Given the description of an element on the screen output the (x, y) to click on. 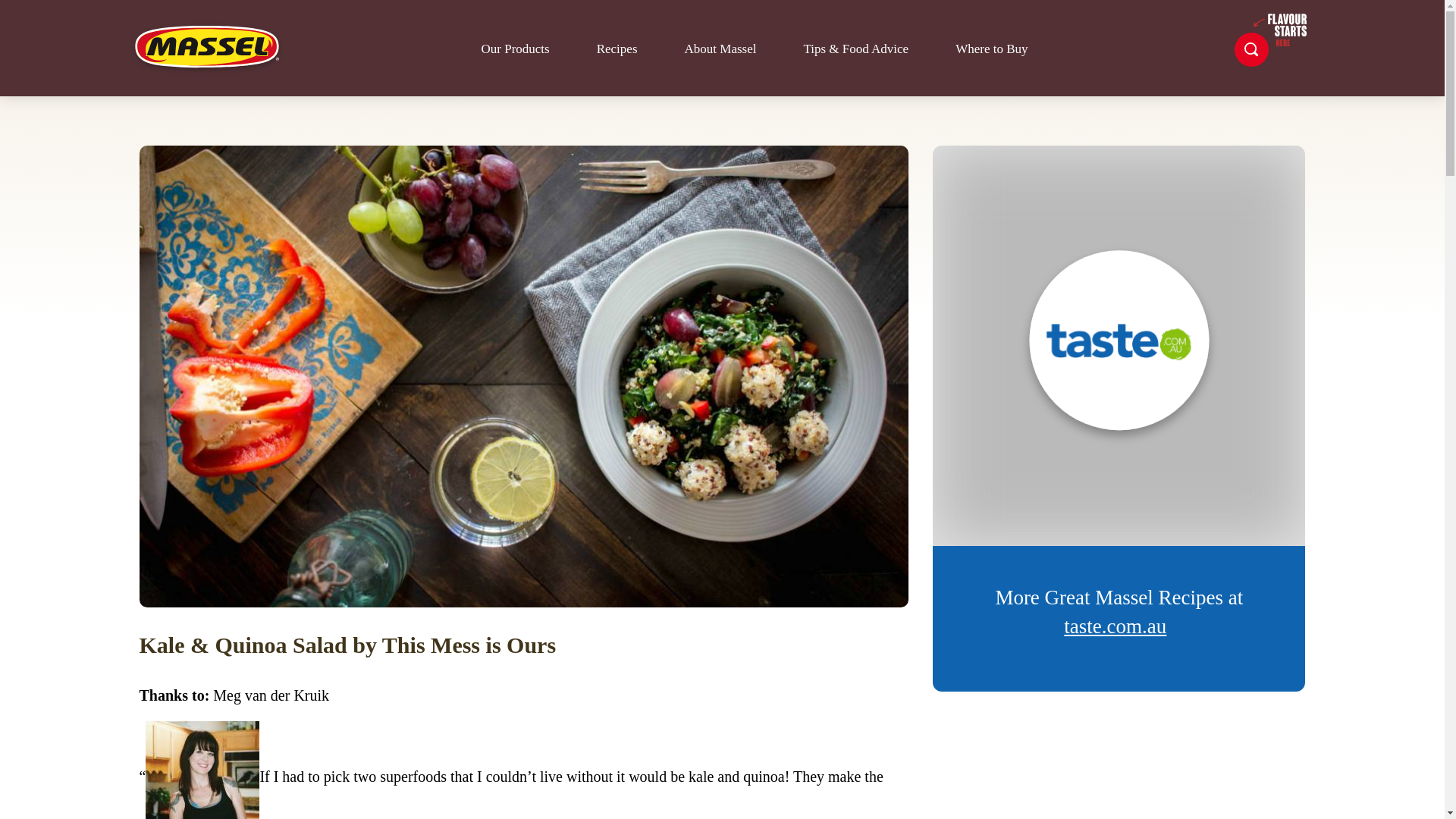
Where to Buy (991, 48)
Our Products (514, 48)
About Massel (720, 48)
Recipes (617, 48)
